Given the description of an element on the screen output the (x, y) to click on. 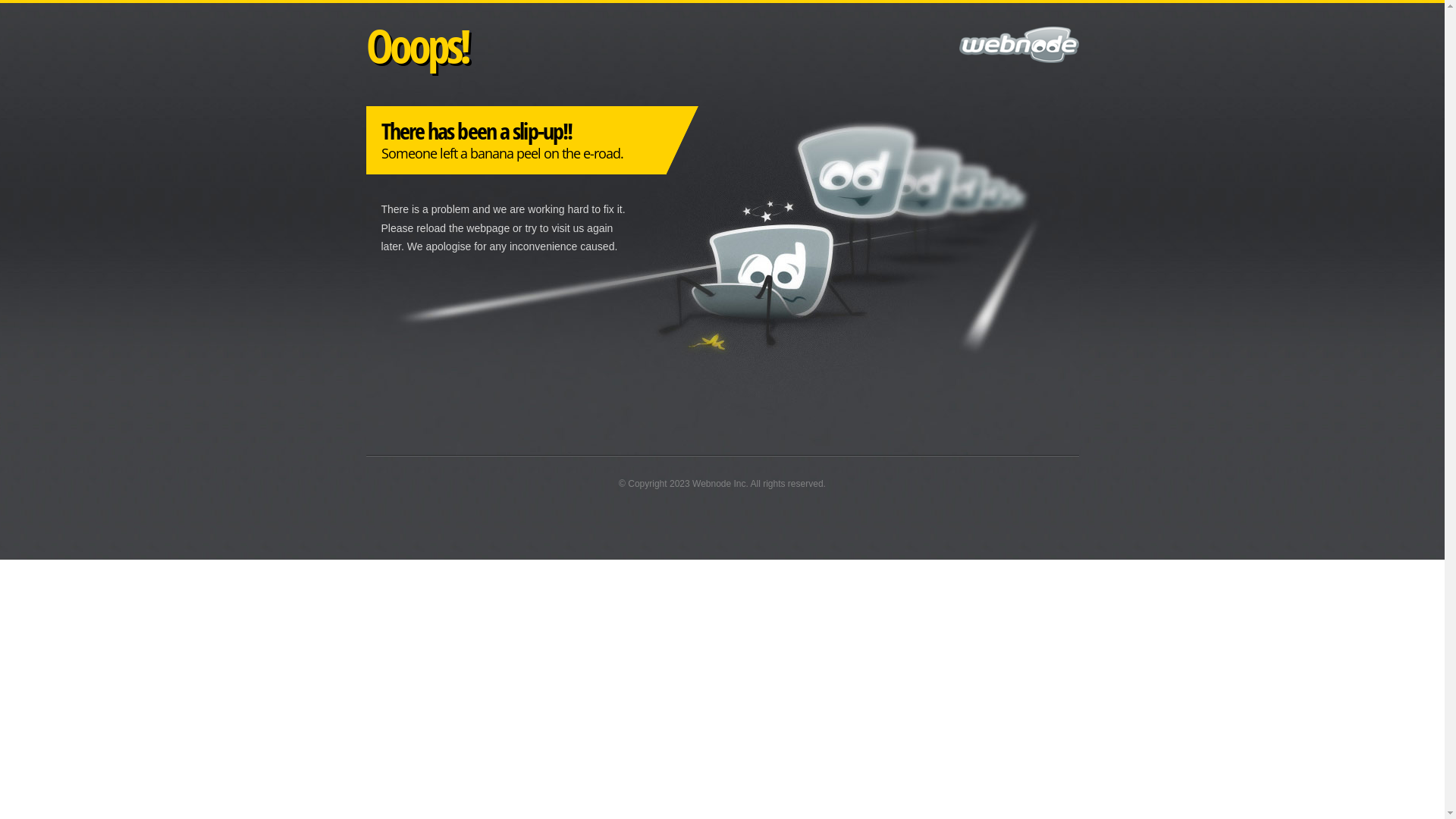
Webnode Inc Element type: text (719, 483)
